Given the description of an element on the screen output the (x, y) to click on. 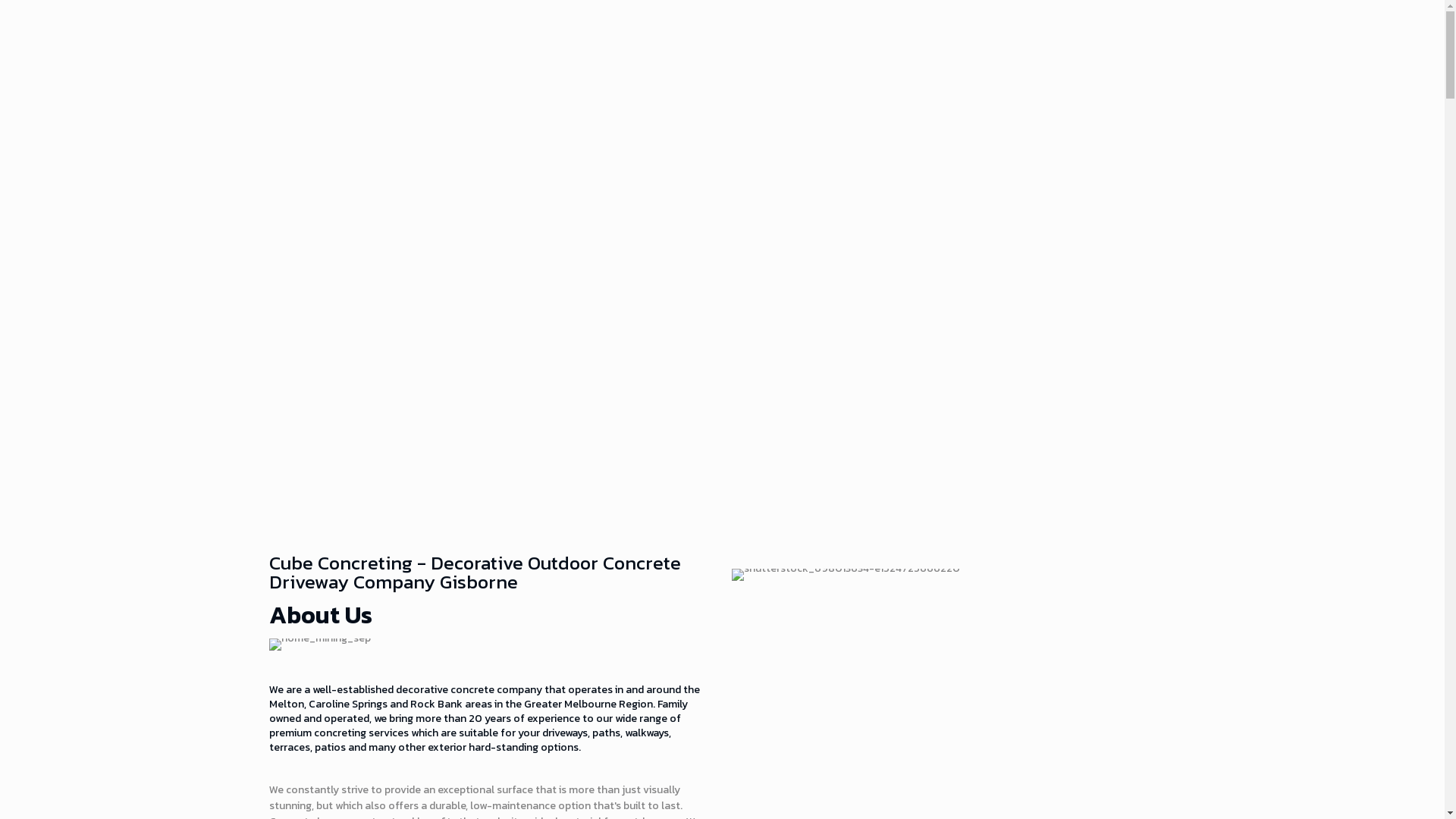
driveways Element type: text (564, 732)
decorative concrete Element type: text (444, 689)
